Given the description of an element on the screen output the (x, y) to click on. 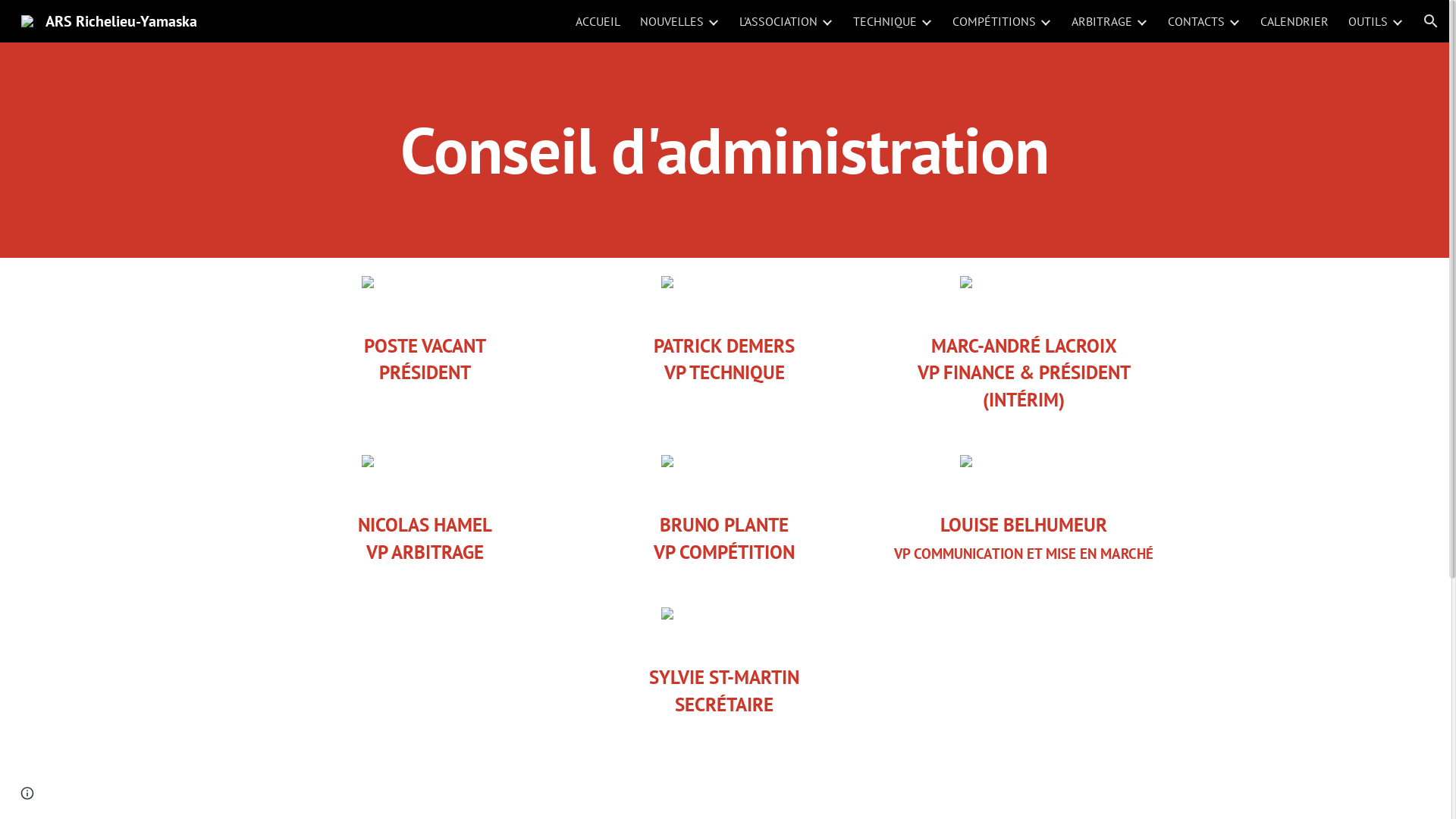
NOUVELLES Element type: text (671, 20)
Expand/Collapse Element type: hover (1141, 20)
CONTACTS Element type: text (1195, 20)
ARS Richelieu-Yamaska Element type: text (109, 19)
Expand/Collapse Element type: hover (712, 20)
L'ASSOCIATION Element type: text (778, 20)
Expand/Collapse Element type: hover (1044, 20)
Expand/Collapse Element type: hover (1396, 20)
ARBITRAGE Element type: text (1101, 20)
CALENDRIER Element type: text (1294, 20)
TECHNIQUE Element type: text (884, 20)
Expand/Collapse Element type: hover (826, 20)
Expand/Collapse Element type: hover (925, 20)
Expand/Collapse Element type: hover (1233, 20)
OUTILS Element type: text (1367, 20)
ACCUEIL Element type: text (597, 20)
